Given the description of an element on the screen output the (x, y) to click on. 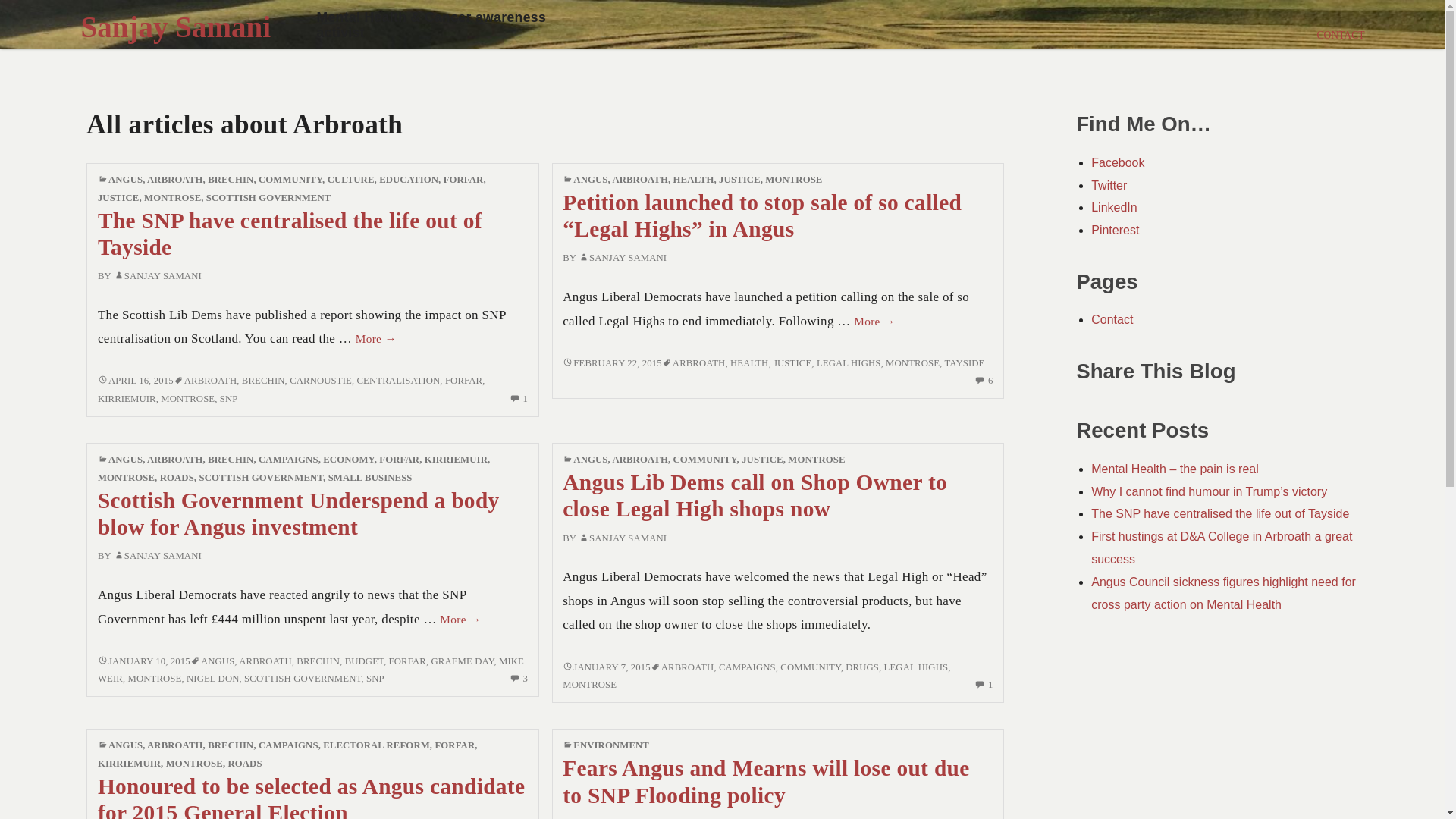
ARBROATH (210, 380)
EDUCATION (408, 179)
FORFAR (463, 380)
SCOTTISH GOVERNMENT (268, 197)
MONTROSE (187, 398)
HEALTH (693, 179)
BRECHIN (263, 380)
COMMUNITY (290, 179)
CULTURE (350, 179)
The SNP have centralised the life out of Tayside (289, 233)
MONTROSE (793, 179)
SANJAY SAMANI (157, 276)
CENTRALISATION (398, 380)
ANGUS (124, 179)
